Given the description of an element on the screen output the (x, y) to click on. 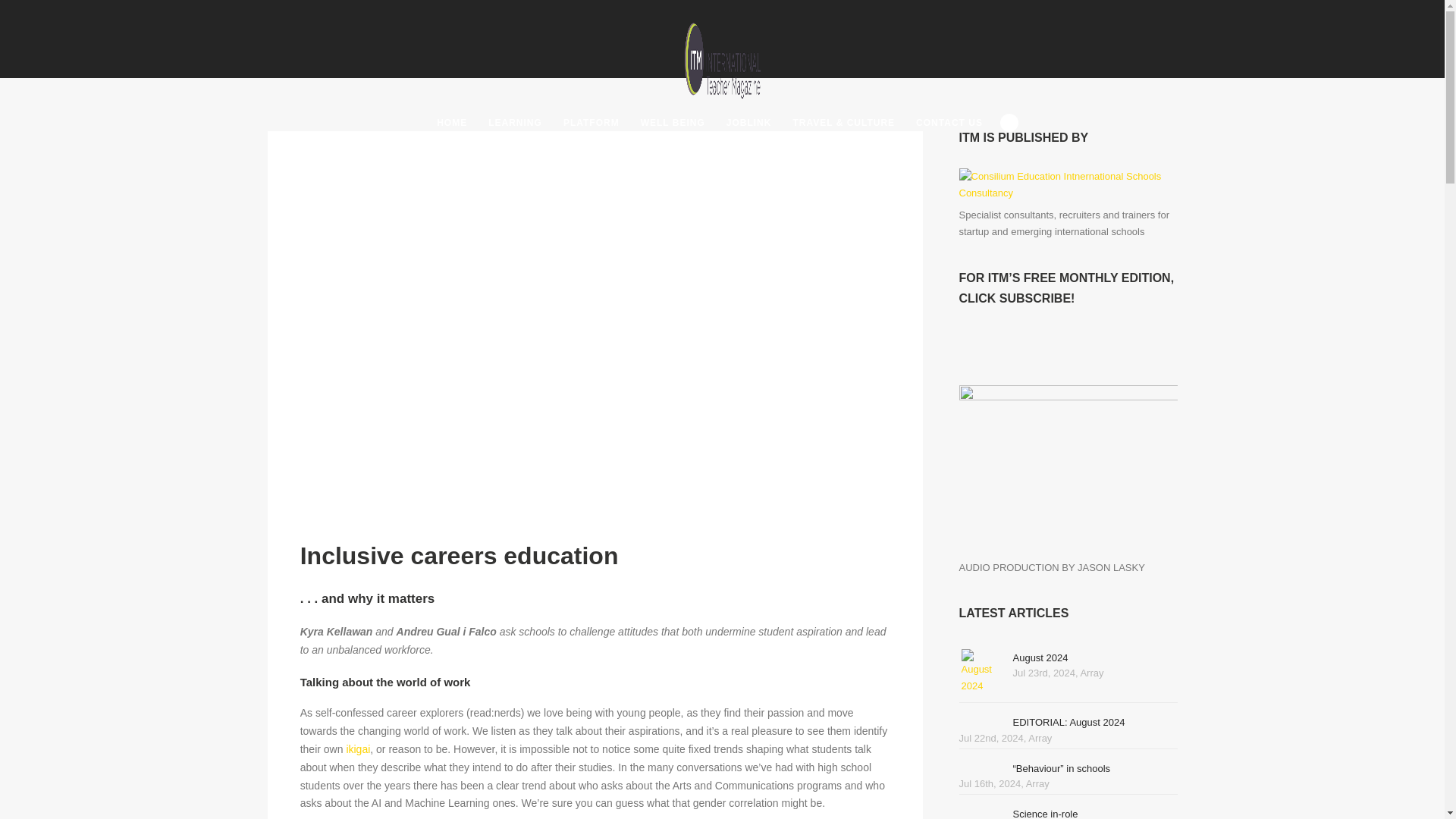
CONTACT US (948, 122)
HOME (451, 122)
Search (1008, 122)
WELL BEING (673, 122)
JOBLINK (749, 122)
            ITM is published by (1067, 193)
ikigai (357, 748)
PLATFORM (591, 122)
LEARNING (515, 122)
